Given the description of an element on the screen output the (x, y) to click on. 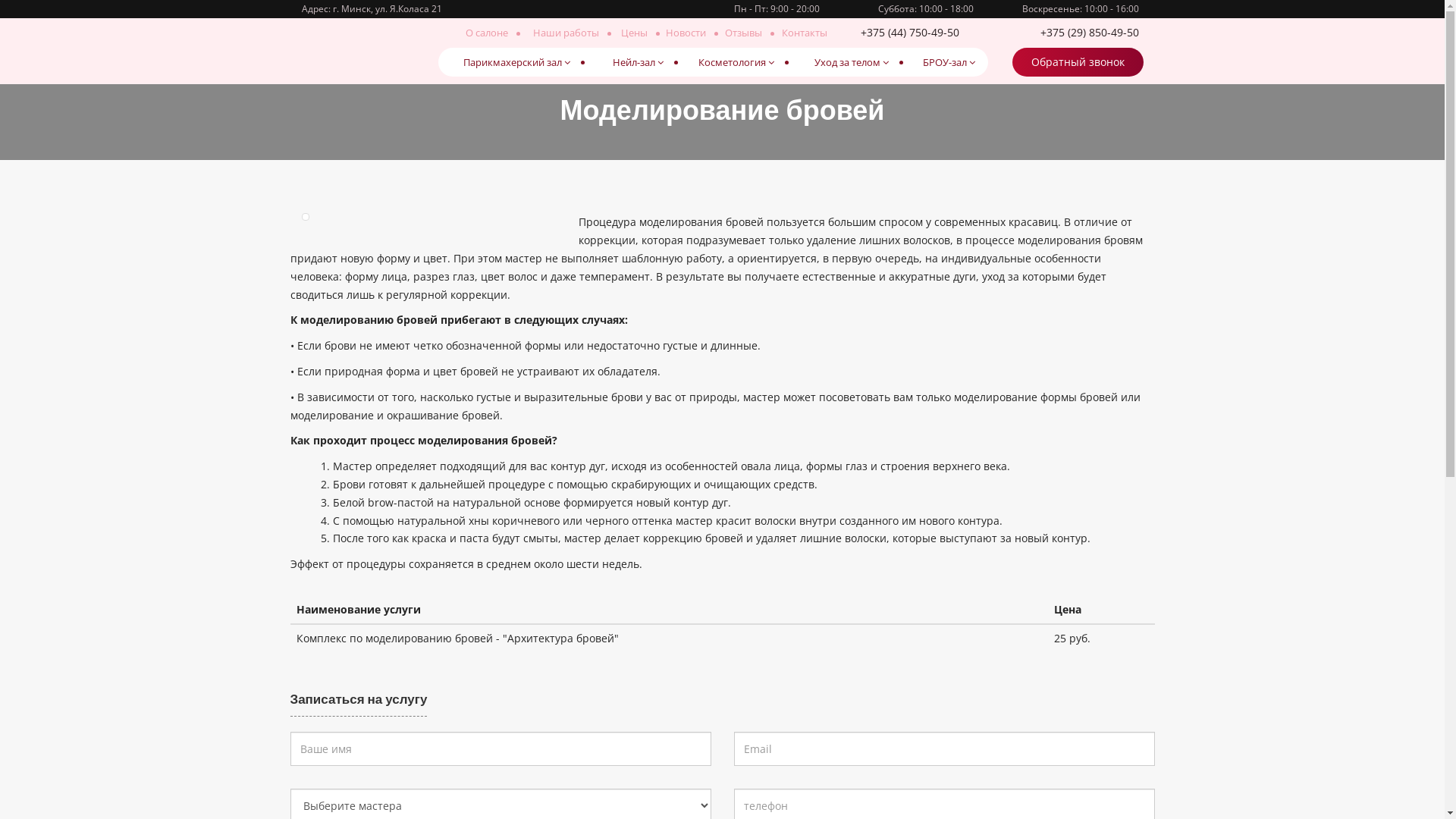
+375 (44) 750-49-50 Element type: text (914, 32)
+375 (29) 850-49-50 Element type: text (1064, 32)
